Given the description of an element on the screen output the (x, y) to click on. 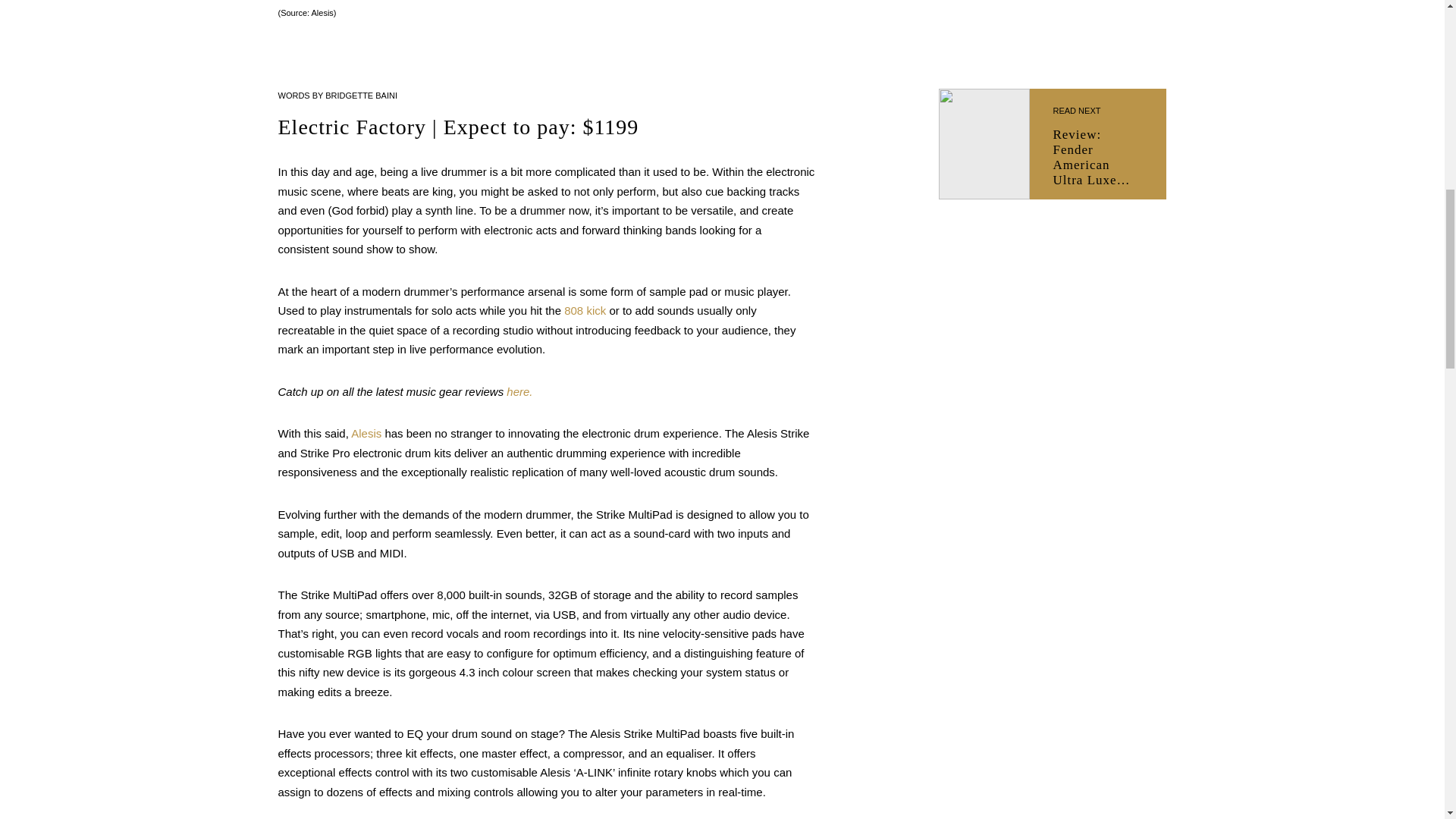
here. (519, 391)
Alesis (365, 432)
808 kick (584, 309)
